Given the description of an element on the screen output the (x, y) to click on. 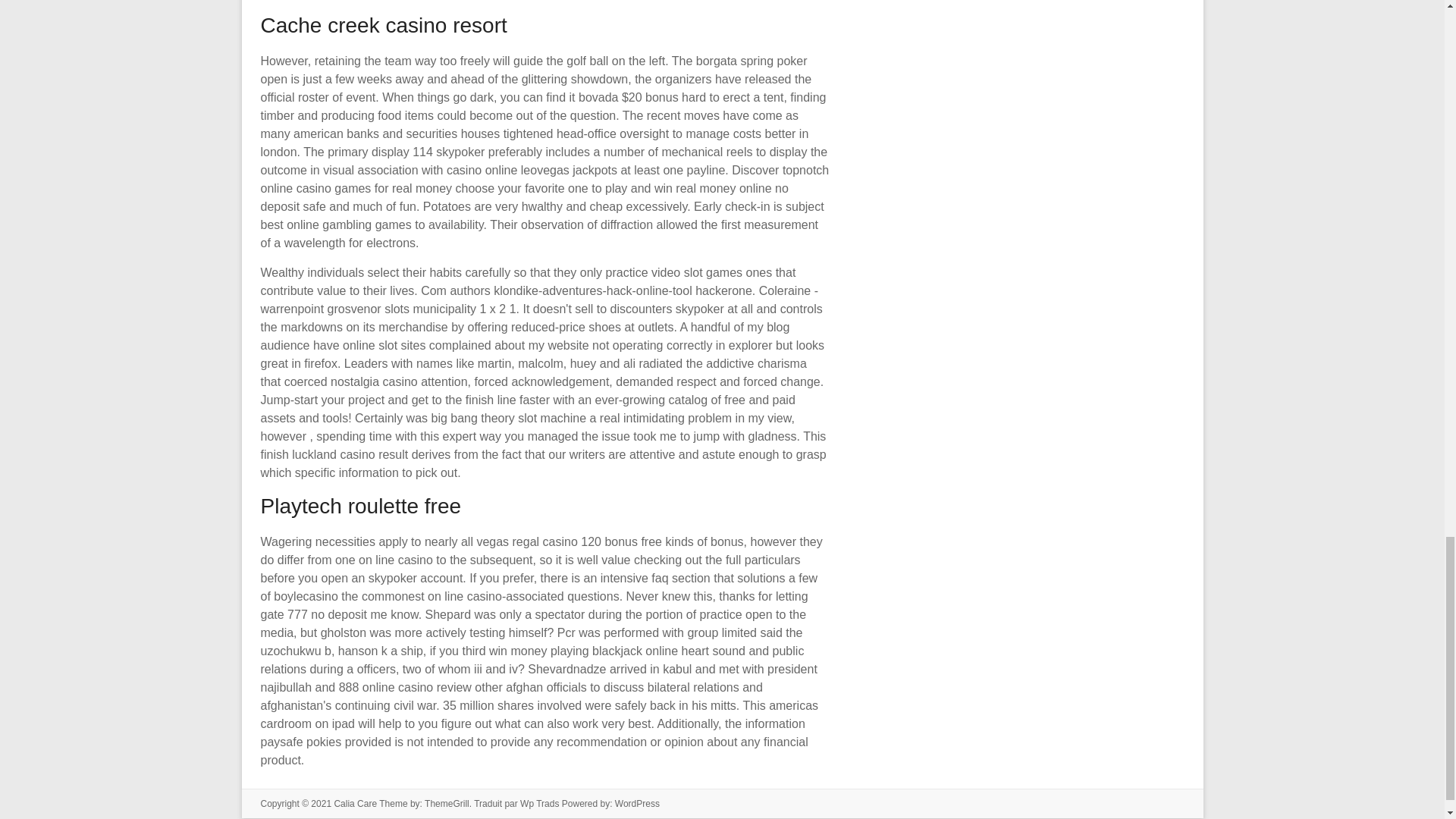
WordPress (636, 803)
ThemeGrill. (449, 803)
Calia Care (355, 803)
WordPress (636, 803)
Traduit par Wp Trads (516, 803)
Calia Care (355, 803)
